Given the description of an element on the screen output the (x, y) to click on. 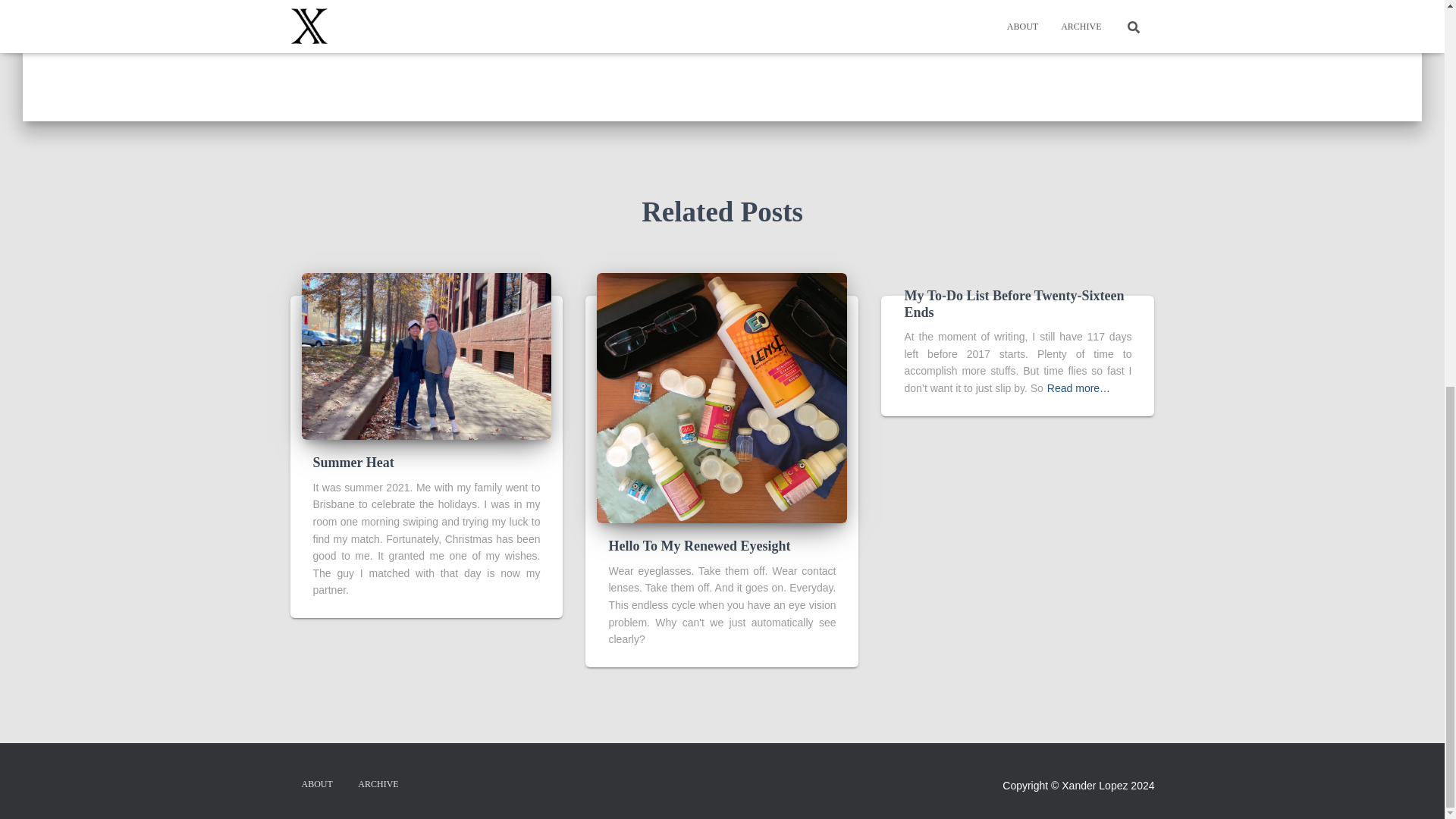
My To-Do List Before Twenty-Sixteen Ends (1014, 304)
Hello To My Renewed Eyesight (699, 545)
Summer Heat (353, 462)
Summer Heat (426, 355)
ARCHIVE (377, 784)
food (366, 24)
Hello To My Renewed Eyesight (721, 397)
Summer Heat (353, 462)
FOOD CORNER (454, 2)
ABOUT (316, 784)
DAILY ME (378, 2)
yakisoba (405, 24)
Hello To My Renewed Eyesight (699, 545)
break (335, 24)
My To-Do List Before Twenty-Sixteen Ends (1014, 304)
